Given the description of an element on the screen output the (x, y) to click on. 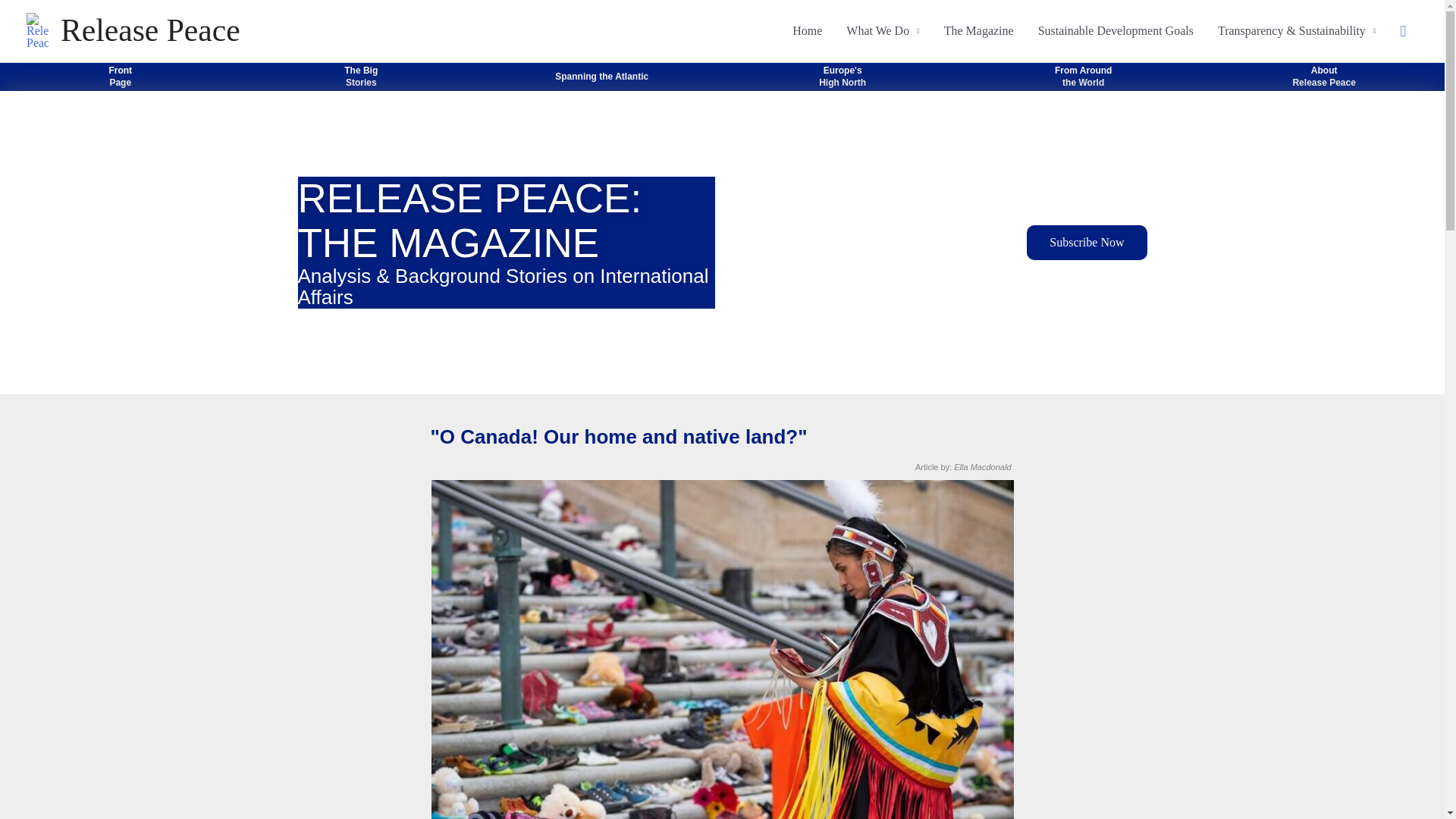
Spanning the Atlantic (600, 76)
Sustainable Development Goals (360, 76)
Subscribe Now (1115, 30)
The Magazine (1086, 242)
Home (978, 30)
Release Peace (119, 76)
